Given the description of an element on the screen output the (x, y) to click on. 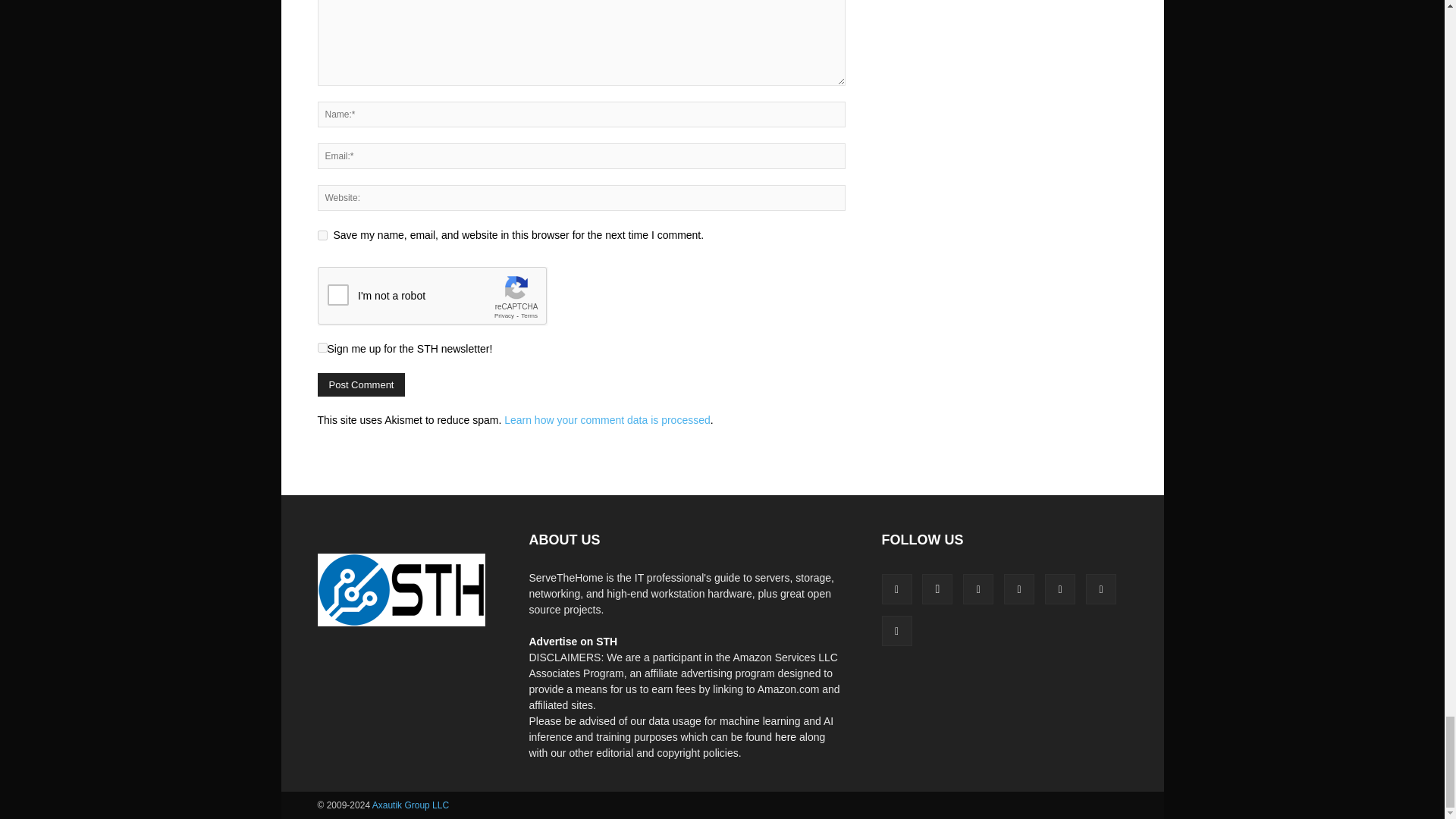
1 (321, 347)
Post Comment (360, 384)
yes (321, 235)
